Given the description of an element on the screen output the (x, y) to click on. 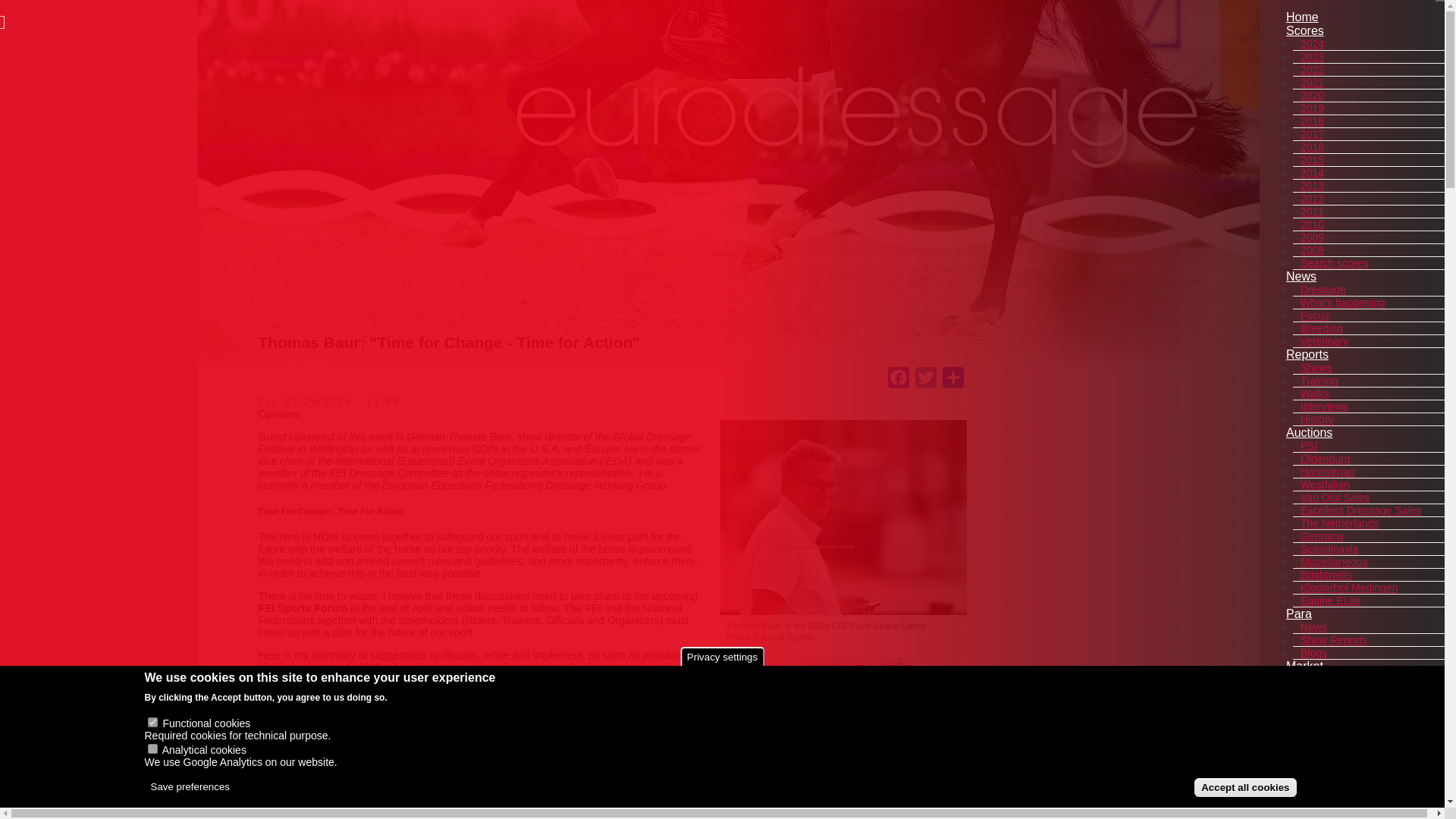
2016 (1312, 146)
Dressage (1323, 289)
Oldenburg (1324, 458)
Home (1301, 16)
2008 (1312, 249)
2013 (1312, 185)
Focus (1314, 315)
2009 (1312, 236)
2010 (1312, 224)
Interviews (1323, 406)
2020 (1312, 94)
Westfalian (1324, 483)
Walks (1314, 393)
PSI (1308, 445)
Shows (1315, 367)
